Given the description of an element on the screen output the (x, y) to click on. 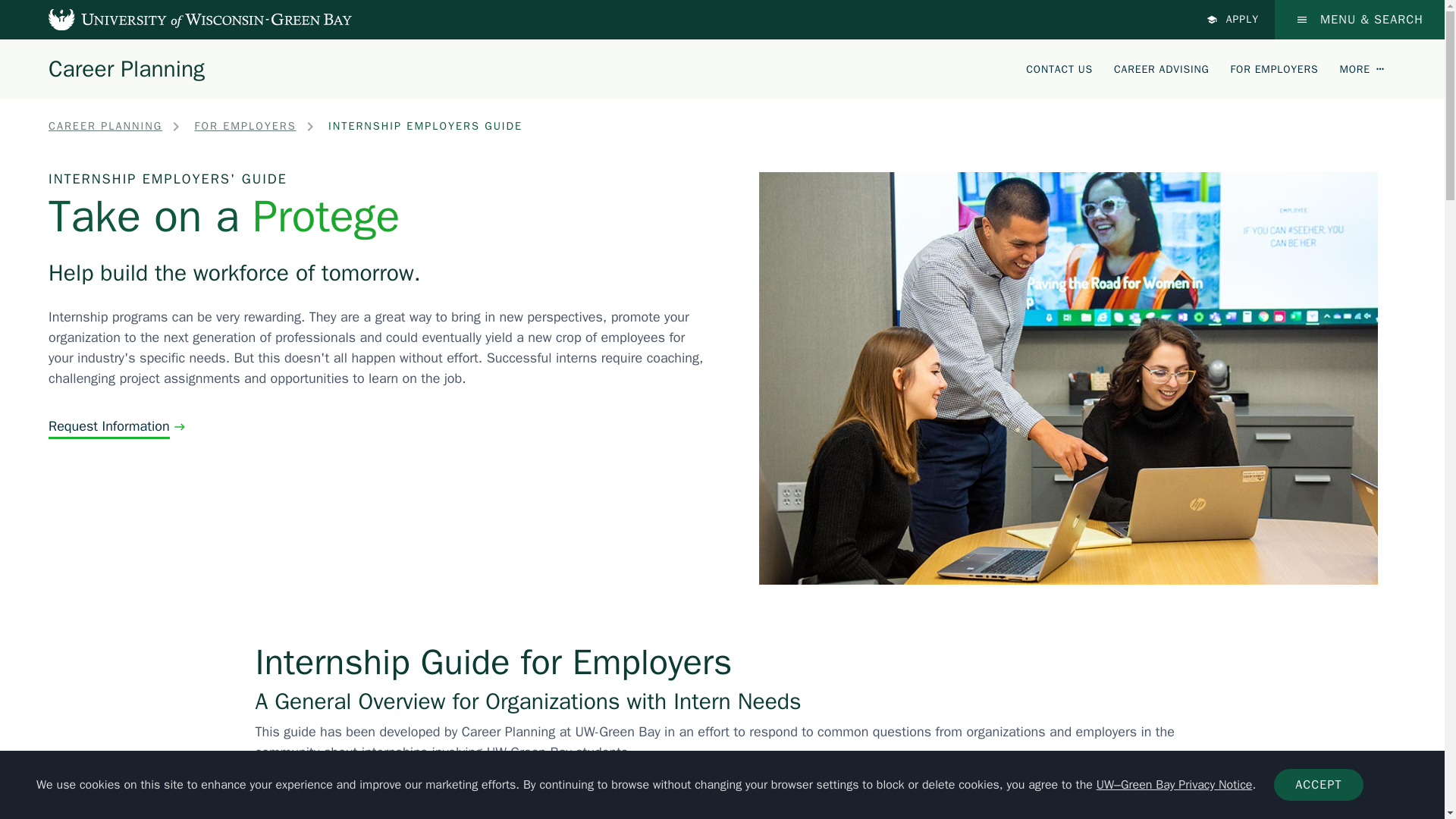
Career Planning (126, 68)
CONTACT US (1059, 68)
APPLY (1233, 19)
FOR EMPLOYERS (1274, 68)
Accept (1318, 784)
MORE (1362, 68)
CAREER ADVISING (1160, 68)
